Given the description of an element on the screen output the (x, y) to click on. 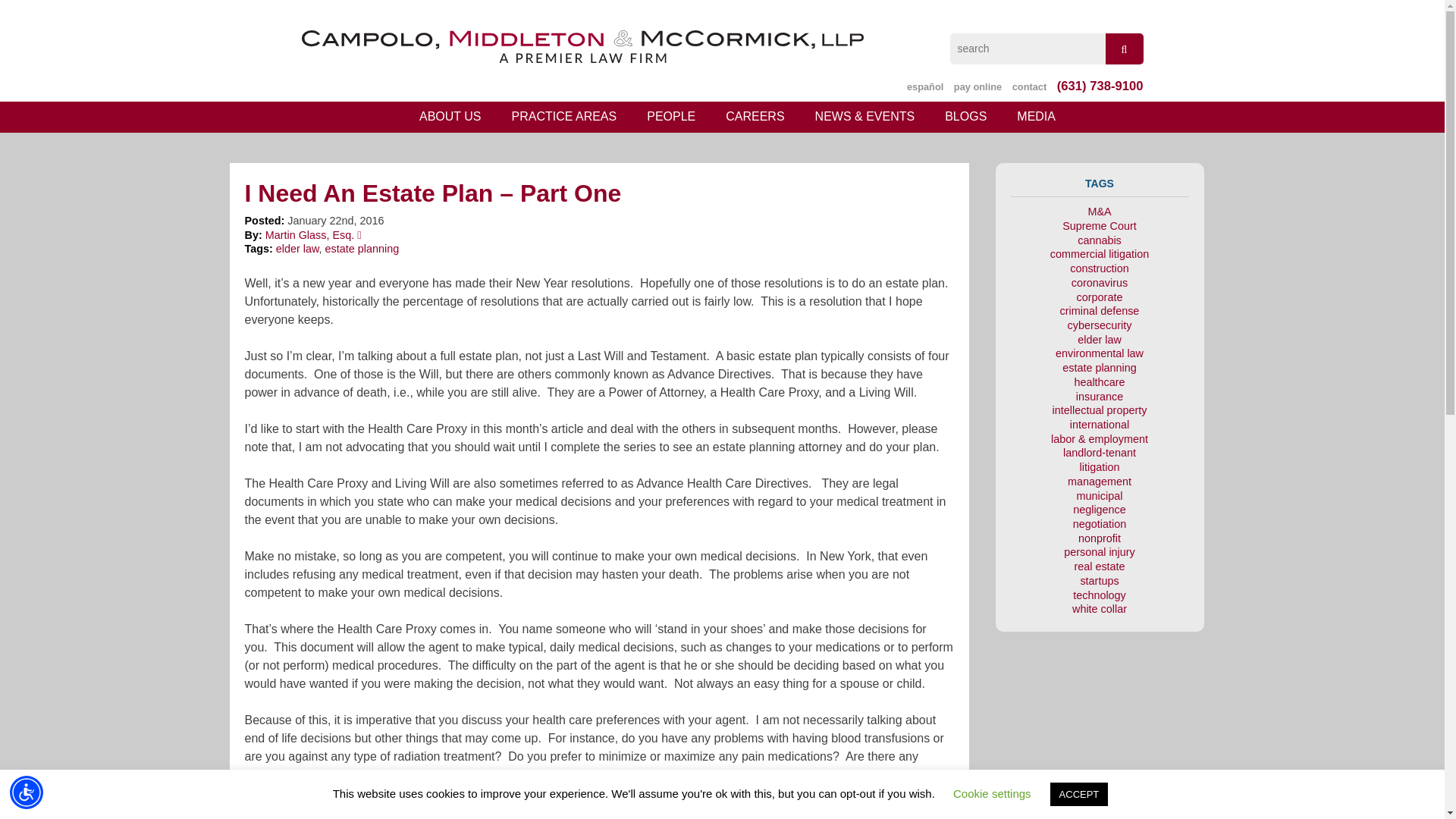
Search (1123, 48)
Accessibility Menu (26, 792)
